Given the description of an element on the screen output the (x, y) to click on. 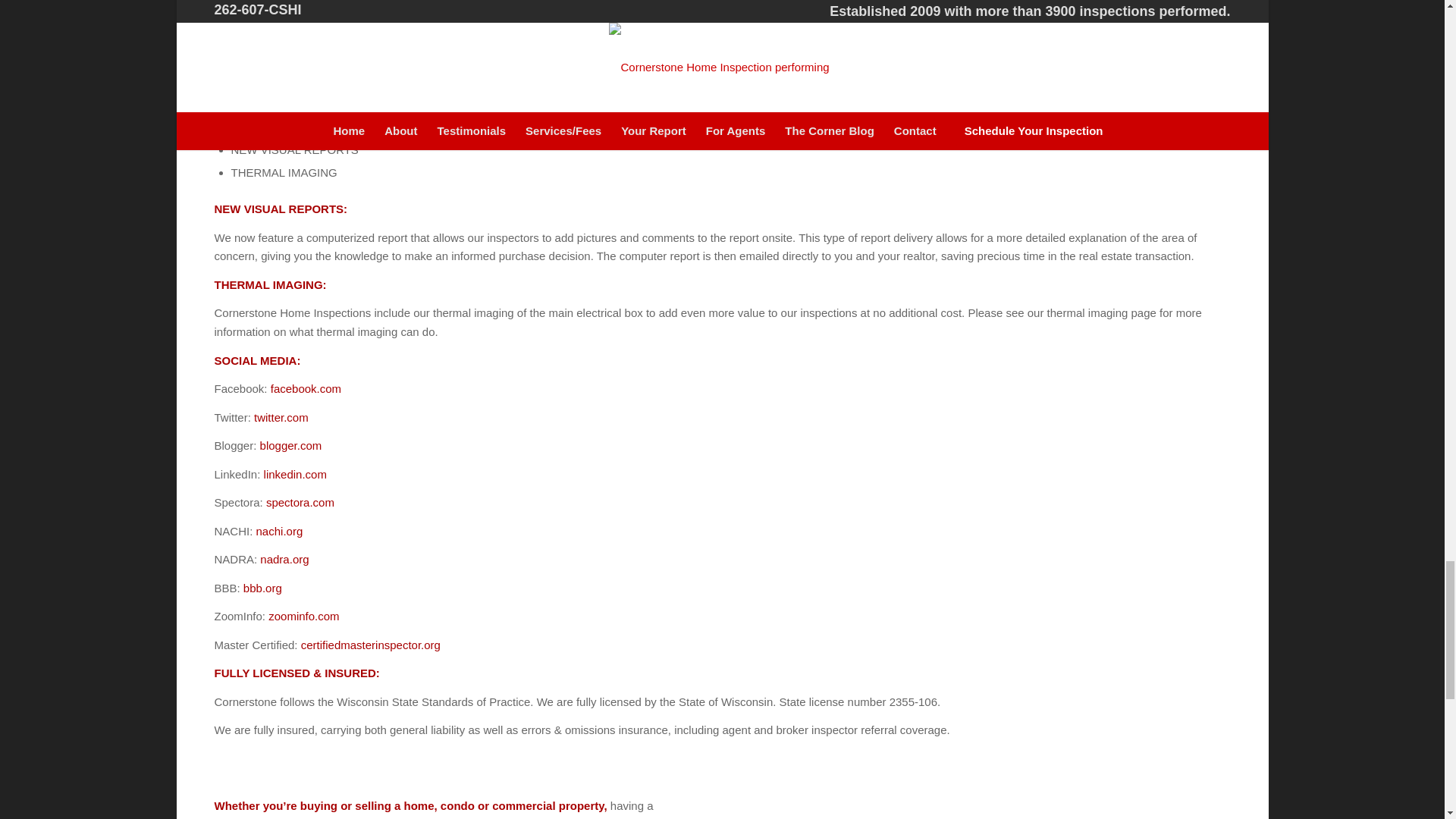
facebook.com (305, 388)
twitter.com (280, 417)
blogger.com (290, 445)
